Given the description of an element on the screen output the (x, y) to click on. 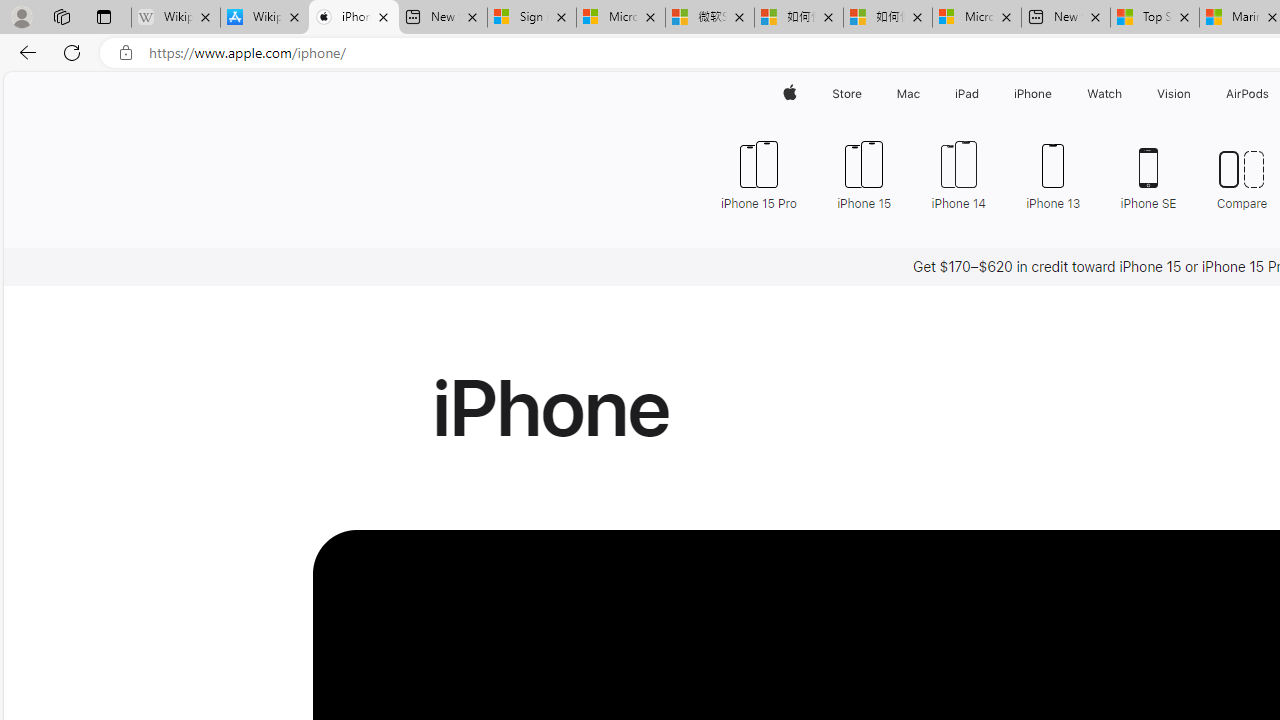
Store (846, 93)
iPhone 15 Pro (758, 173)
Class: globalnav-submenu-trigger-item (1195, 93)
Store (846, 93)
